Given the description of an element on the screen output the (x, y) to click on. 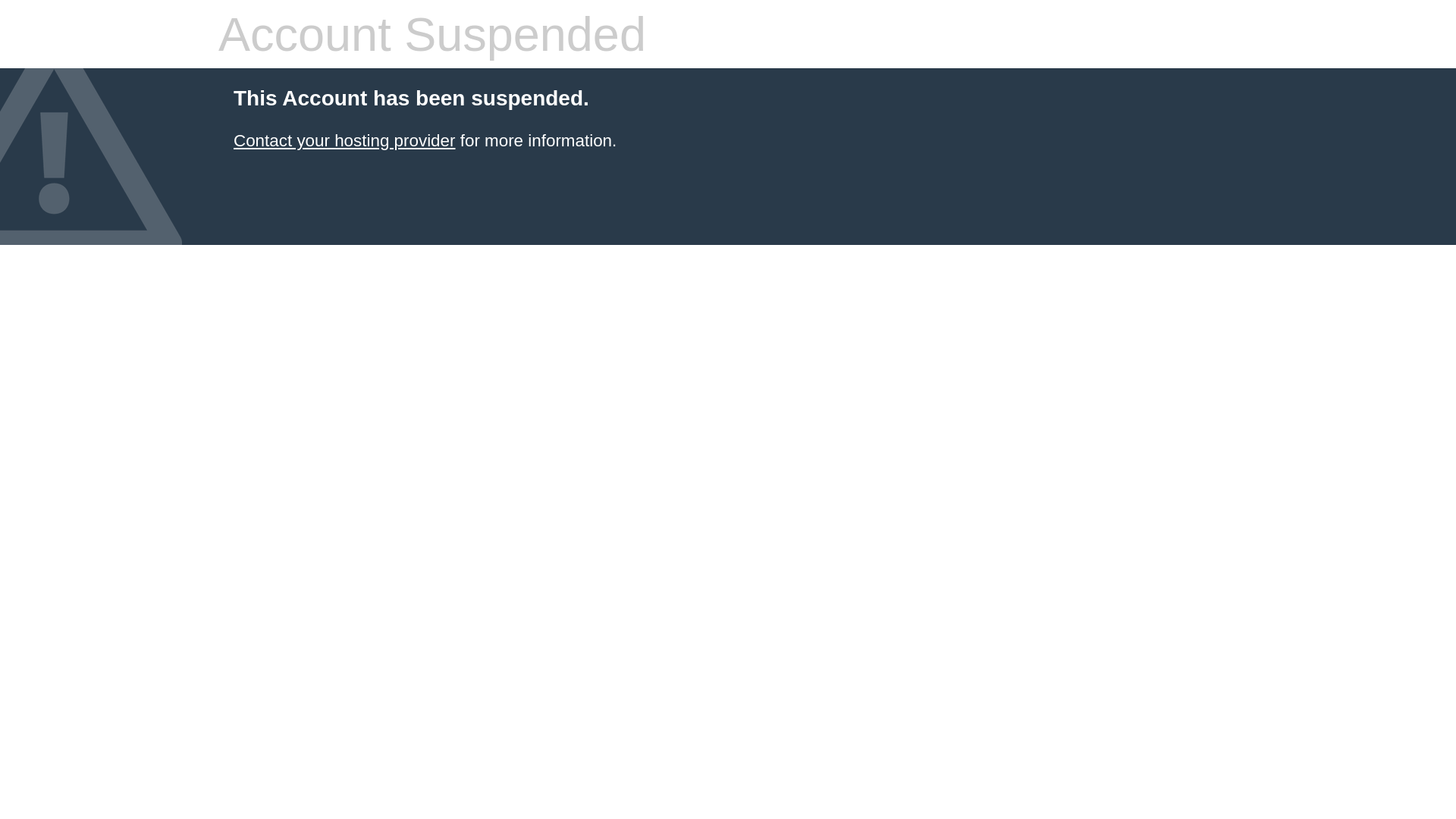
Contact your hosting provider Element type: text (344, 140)
